Given the description of an element on the screen output the (x, y) to click on. 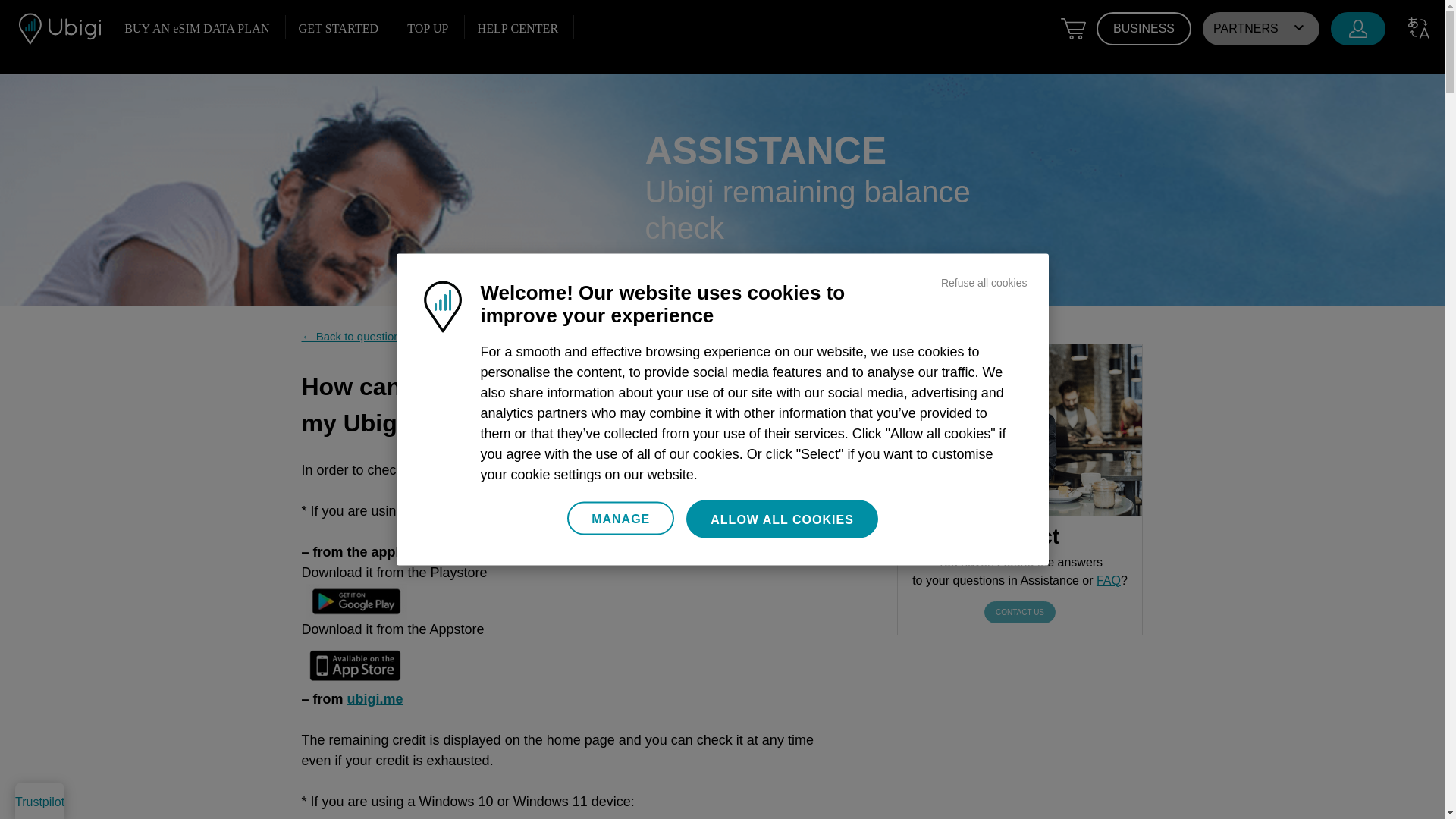
TOP UP (427, 28)
Refuse all cookies (983, 282)
MANAGE (620, 518)
ALLOW ALL COOKIES (781, 519)
BUY AN eSIM DATA PLAN (197, 28)
GET STARTED (338, 28)
HELP CENTER (517, 28)
